Given the description of an element on the screen output the (x, y) to click on. 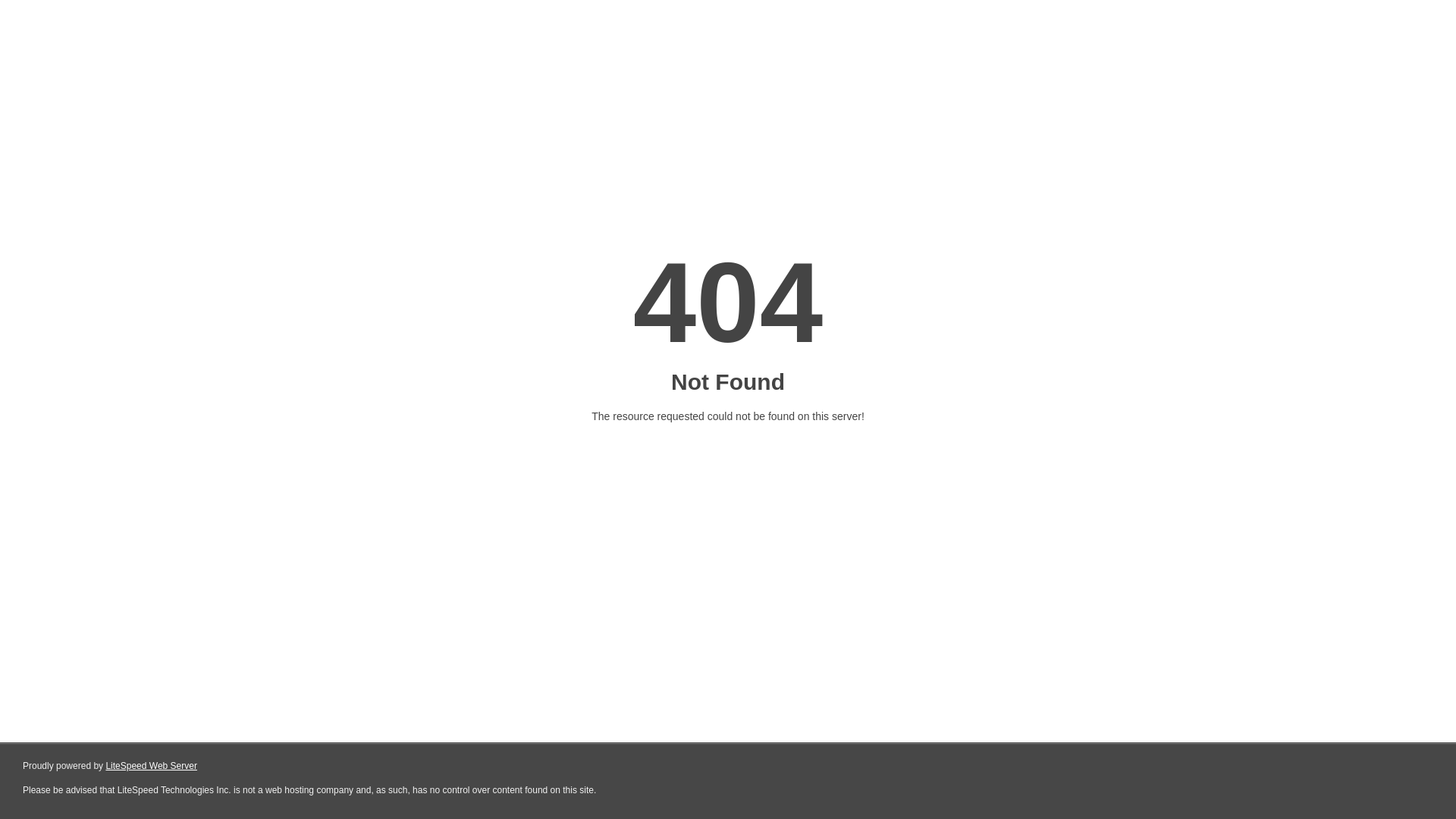
LiteSpeed Web Server Element type: text (151, 765)
